Given the description of an element on the screen output the (x, y) to click on. 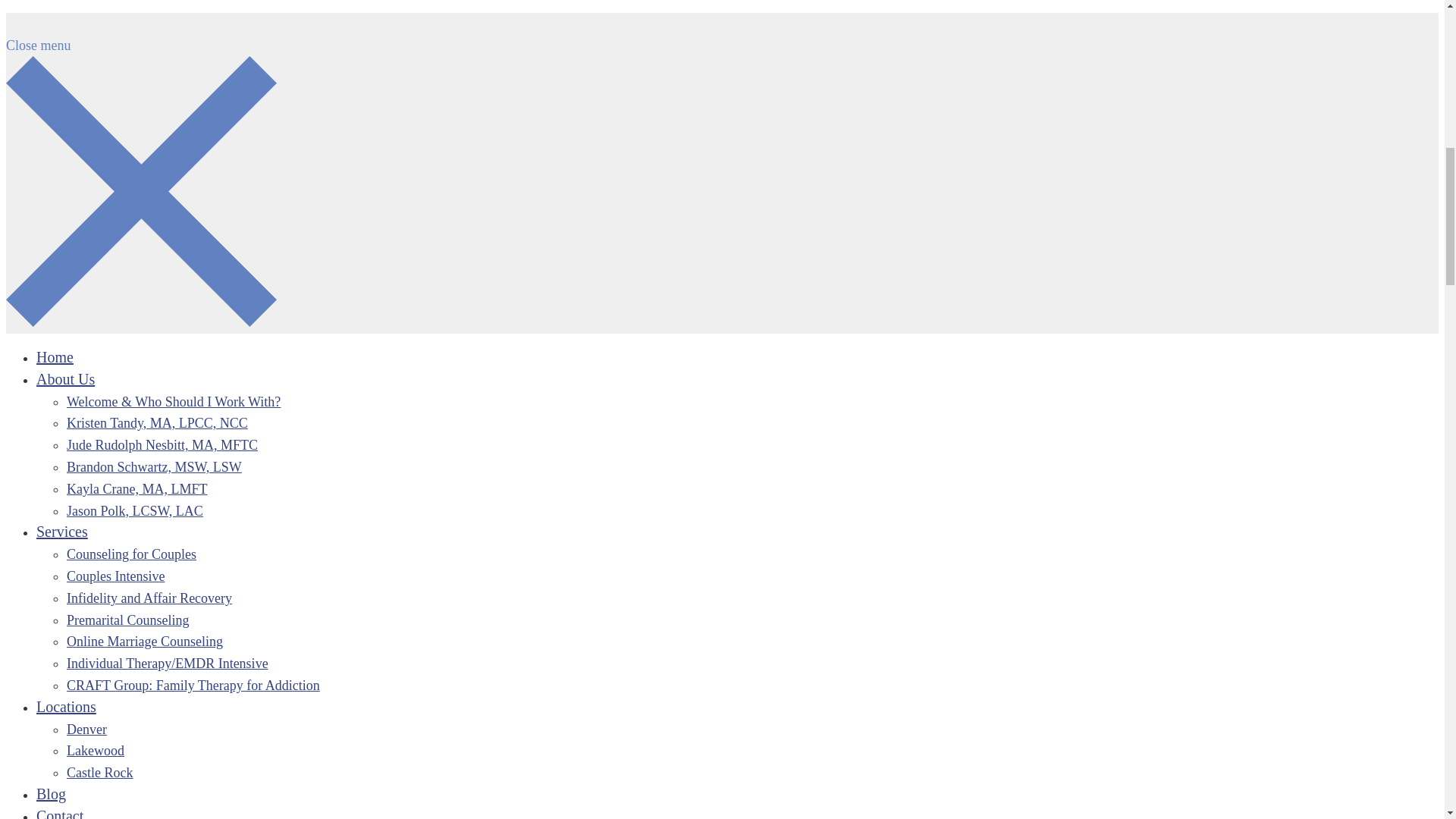
About Us (65, 379)
Jude Rudolph Nesbitt, MA, MFTC (161, 444)
Home (55, 356)
Kristen Tandy, MA, LPCC, NCC (156, 422)
